Given the description of an element on the screen output the (x, y) to click on. 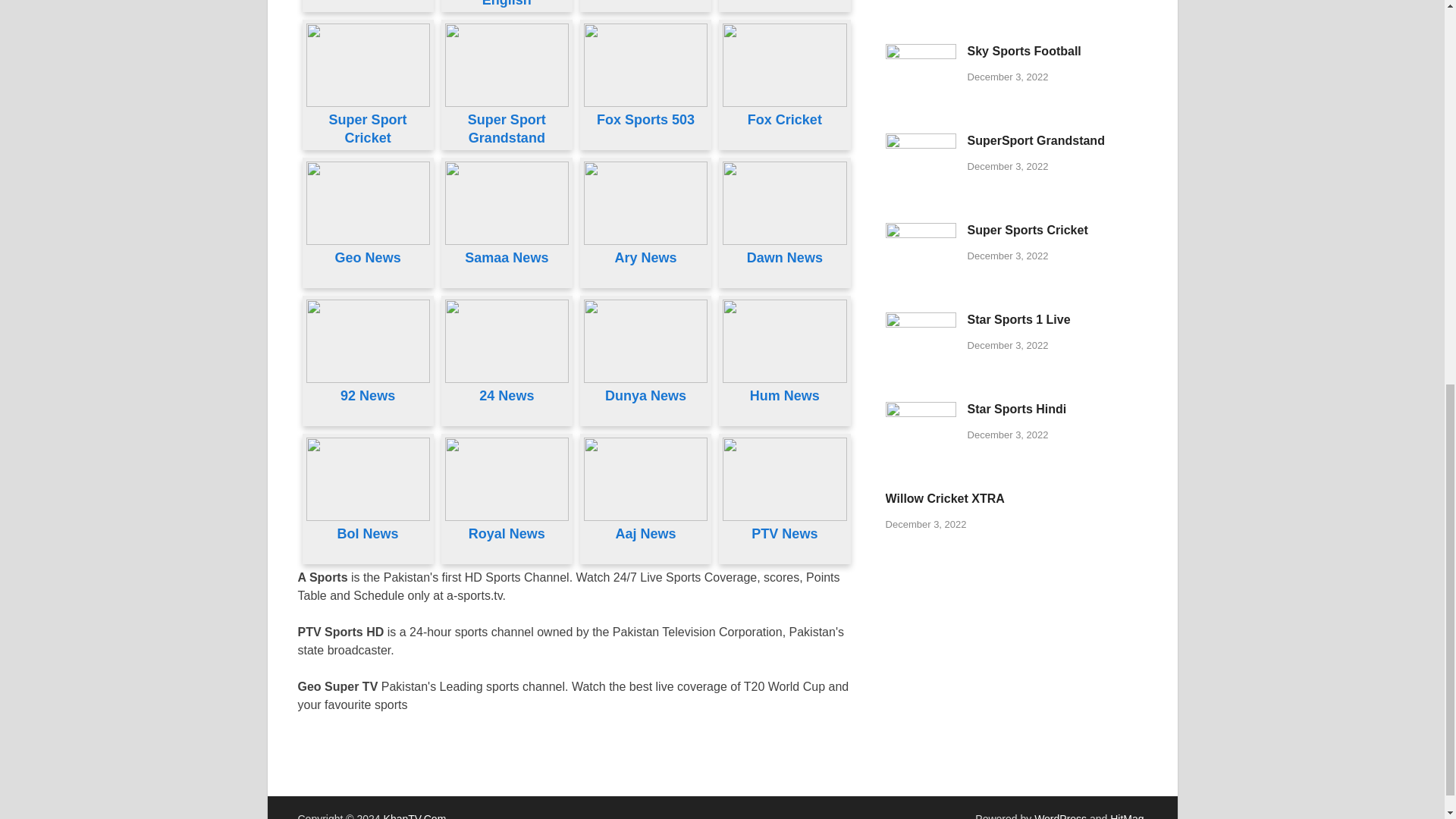
Super Sports Cricket (920, 231)
Sky Sports Football (920, 51)
Star Sports 1 Live (920, 320)
SuperSport Grandstand (920, 141)
Star Sports Hindi (920, 410)
Star Sports 1 English (507, 3)
